Given the description of an element on the screen output the (x, y) to click on. 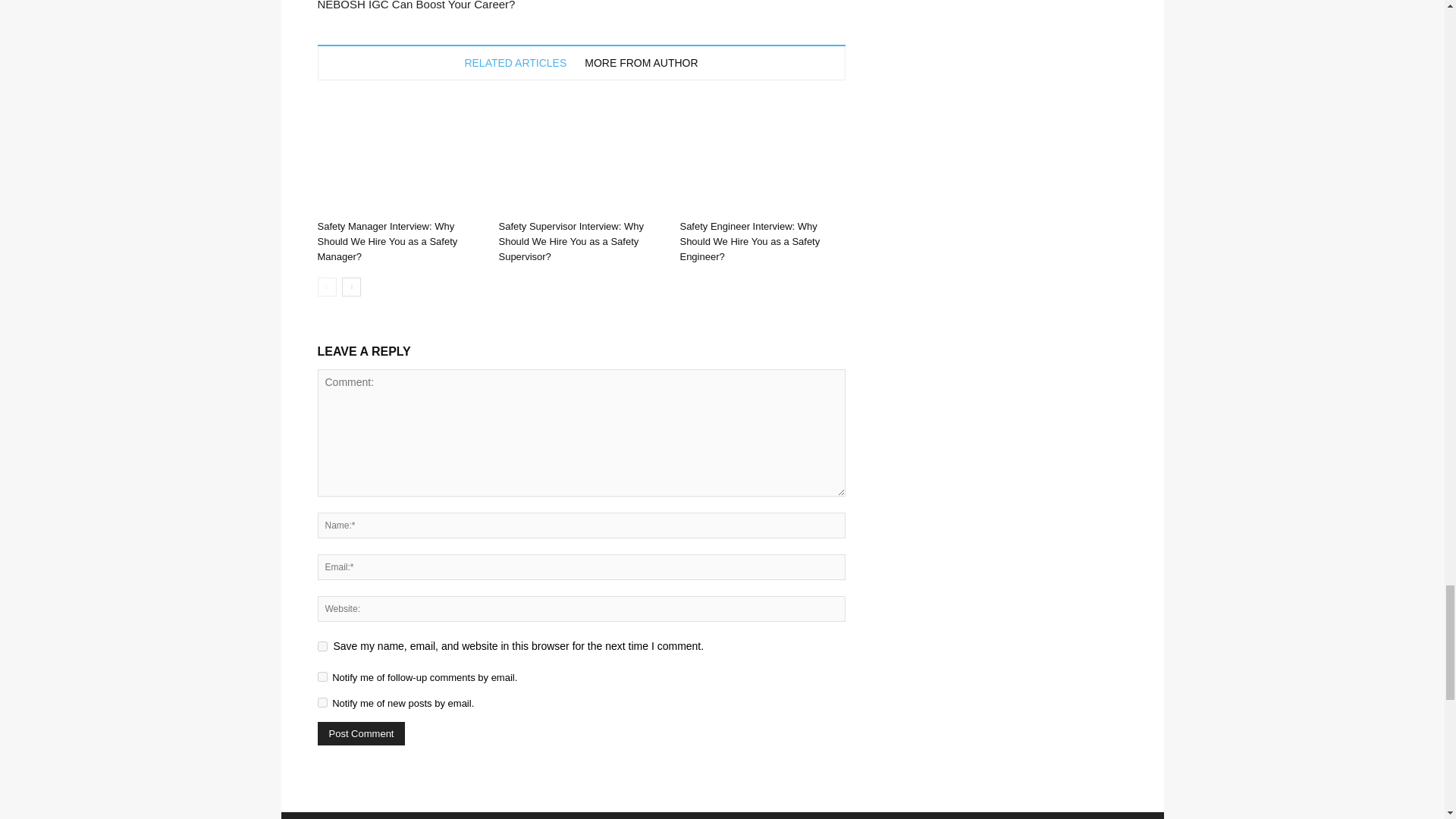
Post Comment (360, 733)
subscribe (321, 676)
yes (321, 646)
subscribe (321, 702)
